Given the description of an element on the screen output the (x, y) to click on. 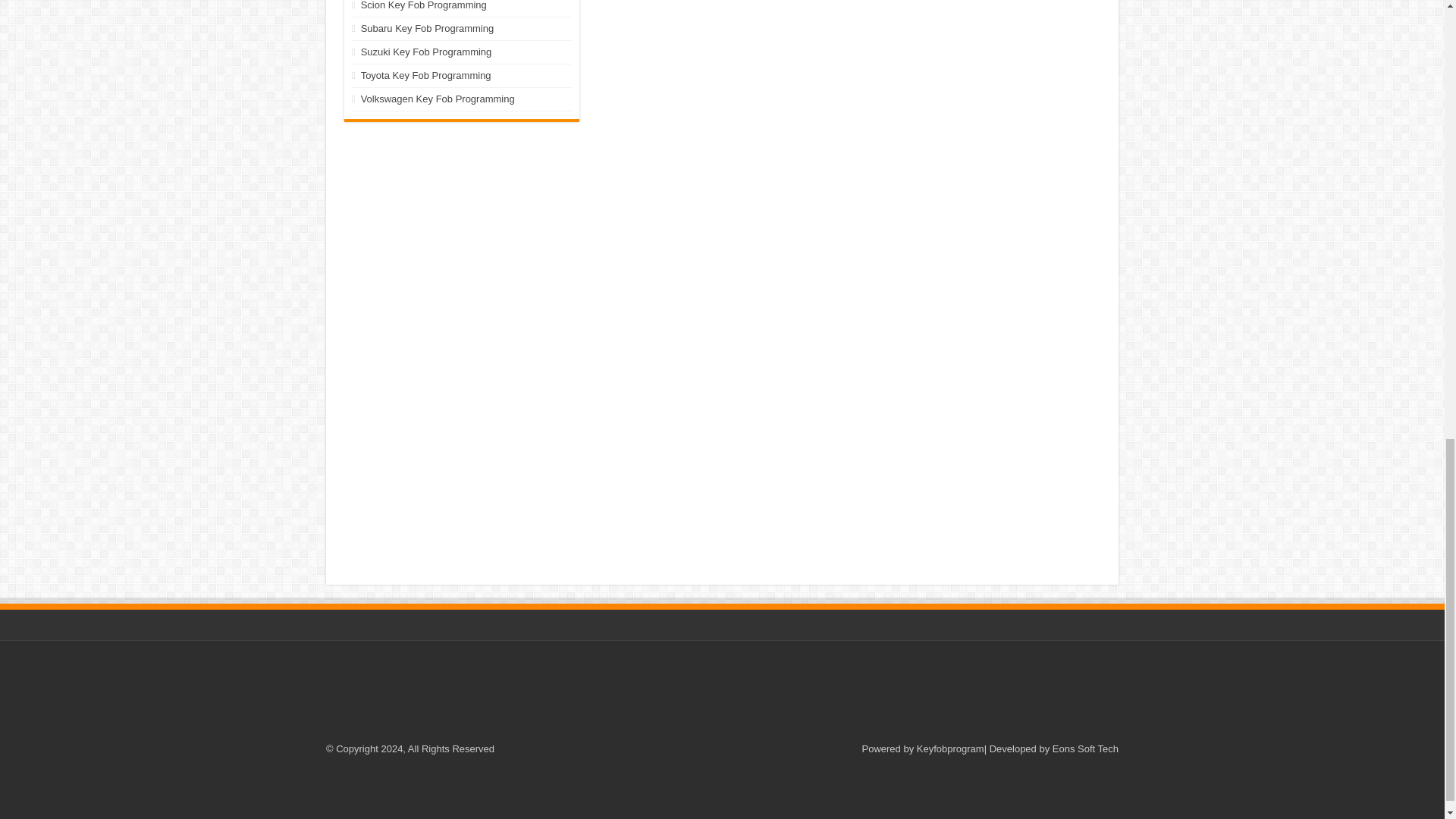
Volkswagen Key Fob Programming (438, 98)
Advertisement (721, 791)
Advertisement (461, 224)
Subaru Key Fob Programming (428, 28)
Suzuki Key Fob Programming (426, 51)
Scion Key Fob Programming (423, 5)
Advertisement (721, 694)
Toyota Key Fob Programming (426, 75)
